Given the description of an element on the screen output the (x, y) to click on. 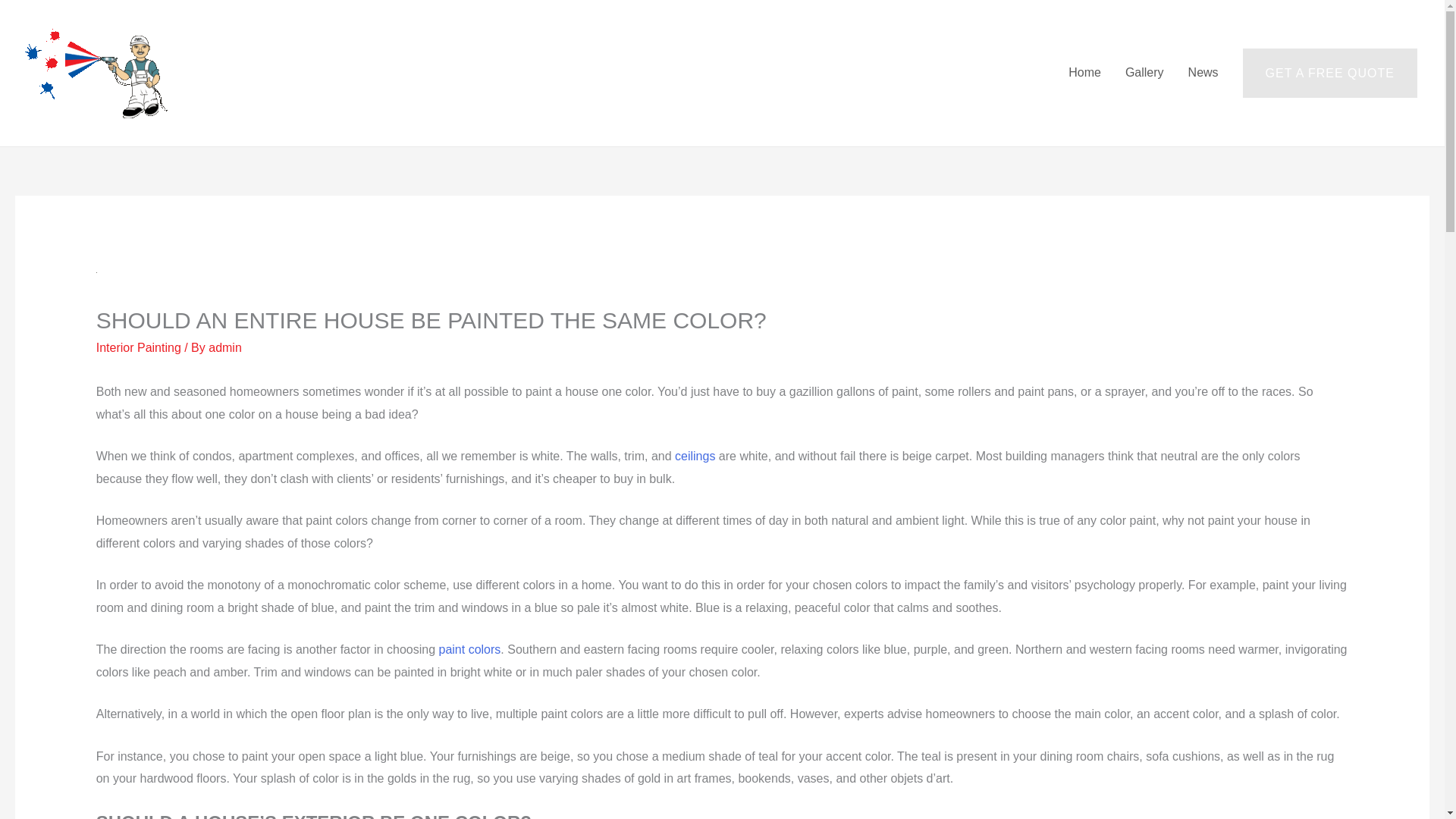
Home (1085, 72)
GET A FREE QUOTE (1329, 73)
Interior Painting (138, 347)
News (1203, 72)
admin (224, 347)
View all posts by admin (224, 347)
paint colors (469, 649)
Gallery (1144, 72)
ceilings (694, 455)
